Given the description of an element on the screen output the (x, y) to click on. 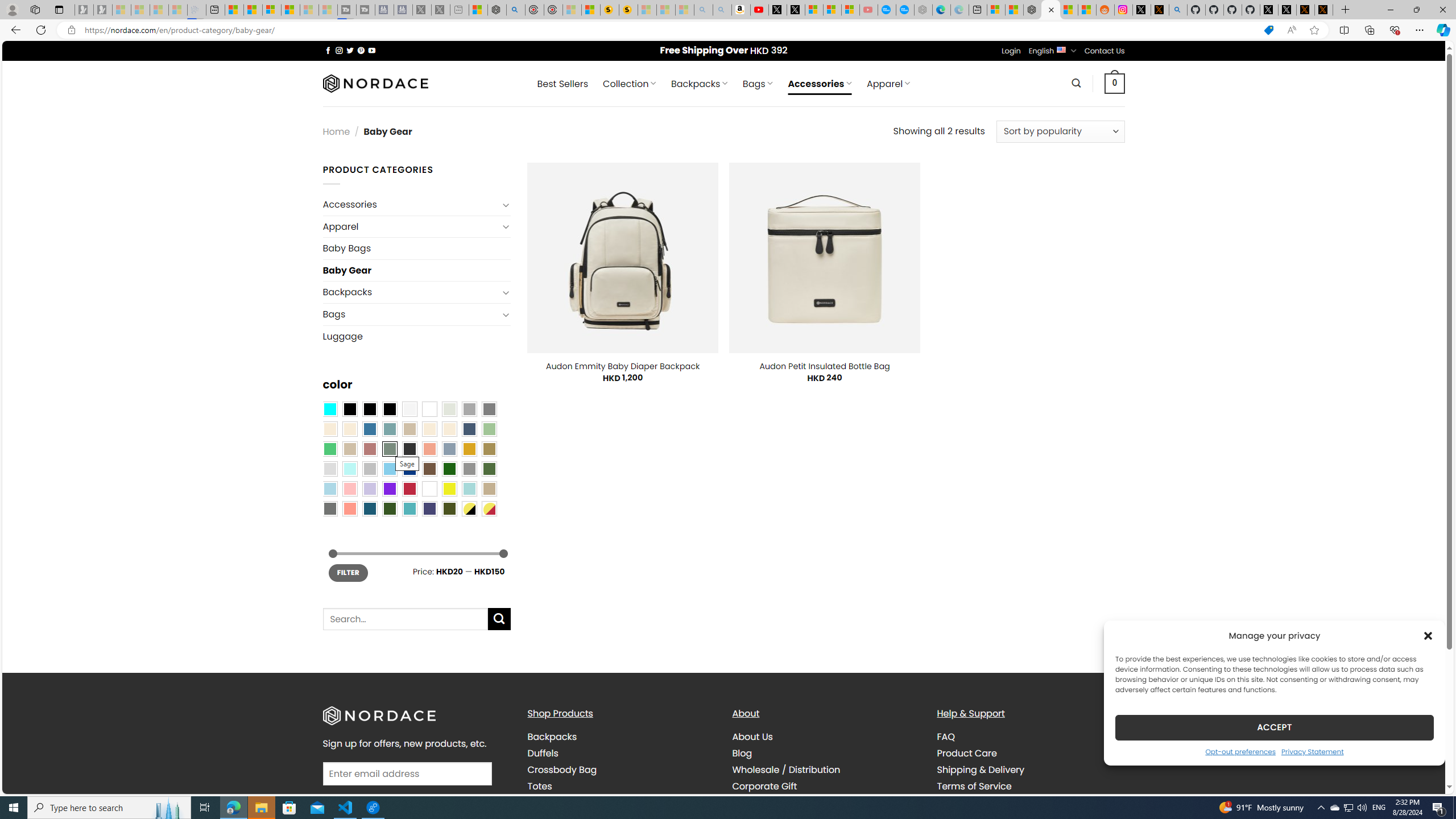
Class: cmplz-close (1428, 635)
  Best Sellers (562, 83)
AutomationID: input_4_1 (406, 773)
Aqua Blue (329, 408)
Clear (429, 408)
Cream (449, 428)
Gloom - YouTube - Sleeping (868, 9)
Light Green (488, 428)
